Given the description of an element on the screen output the (x, y) to click on. 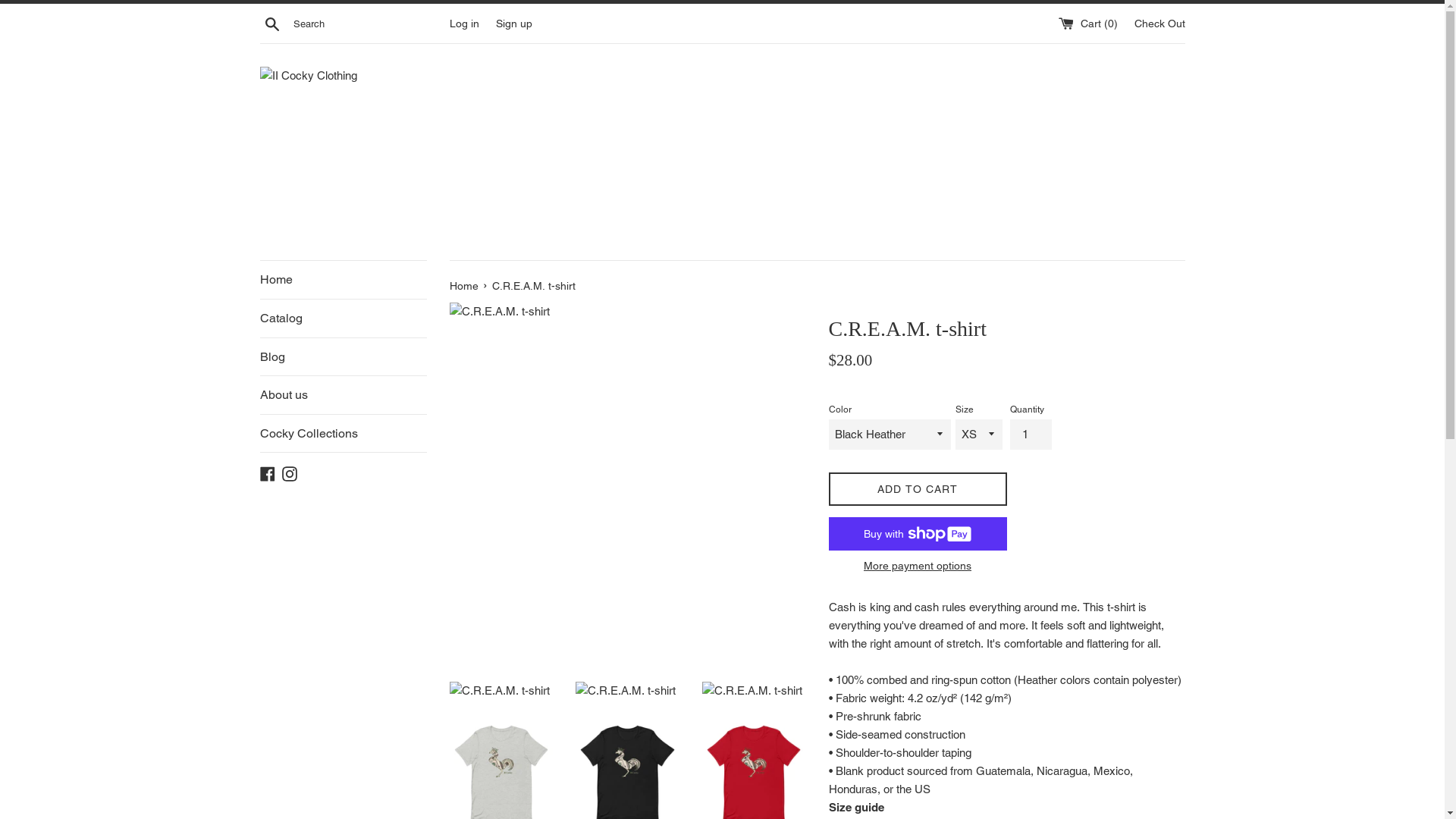
Sign up Element type: text (513, 22)
Home Element type: text (342, 279)
Check Out Element type: text (1159, 22)
Catalog Element type: text (342, 318)
Search Element type: text (271, 23)
Home Element type: text (464, 285)
More payment options Element type: text (917, 565)
ADD TO CART Element type: text (917, 489)
Cart (0) Element type: text (1089, 22)
Instagram Element type: text (289, 472)
Facebook Element type: text (266, 472)
Blog Element type: text (342, 357)
About us Element type: text (342, 395)
Log in Element type: text (463, 22)
Cocky Collections Element type: text (342, 433)
